Given the description of an element on the screen output the (x, y) to click on. 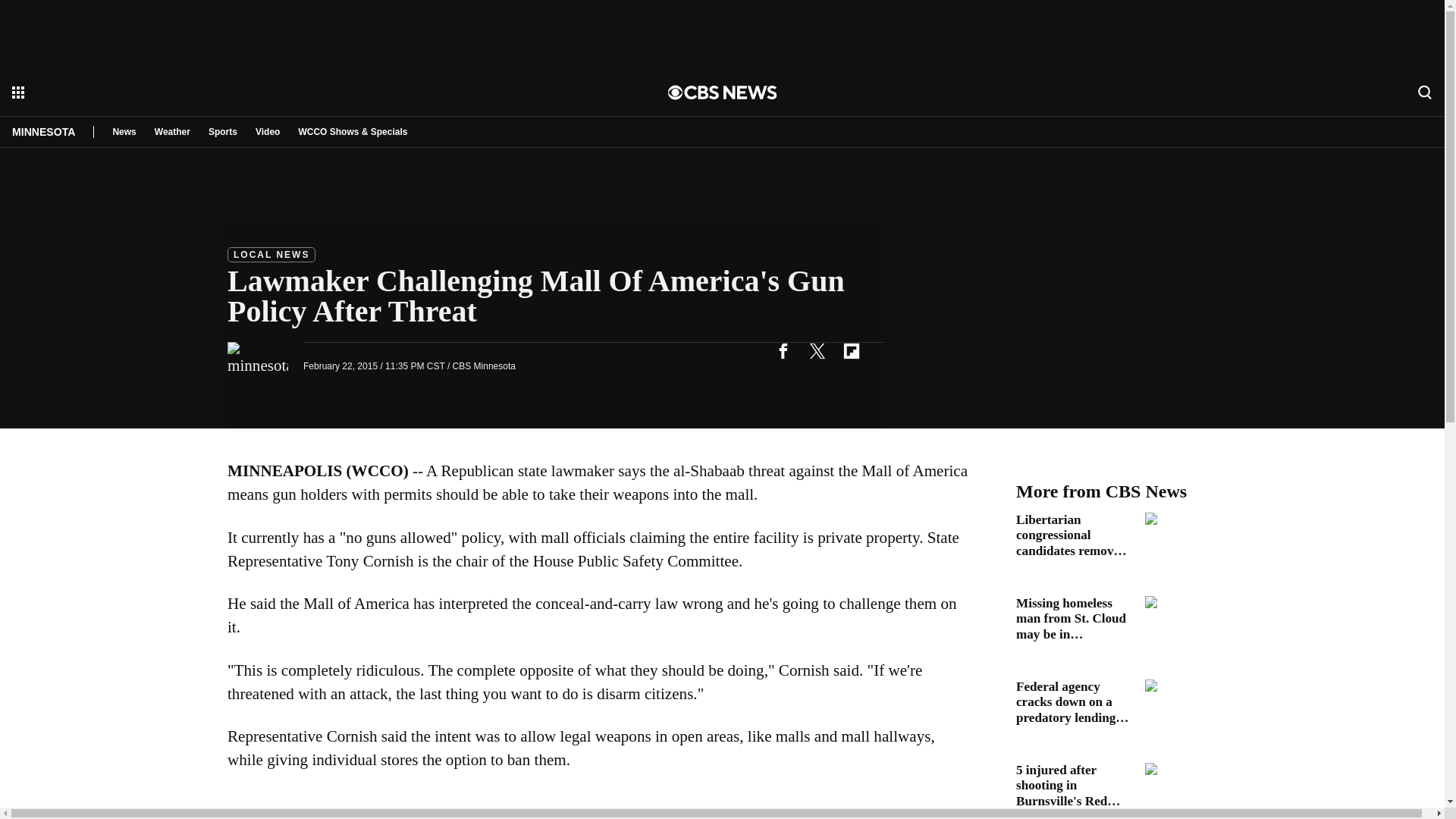
twitter (816, 350)
facebook (782, 350)
flipboard (850, 350)
